Given the description of an element on the screen output the (x, y) to click on. 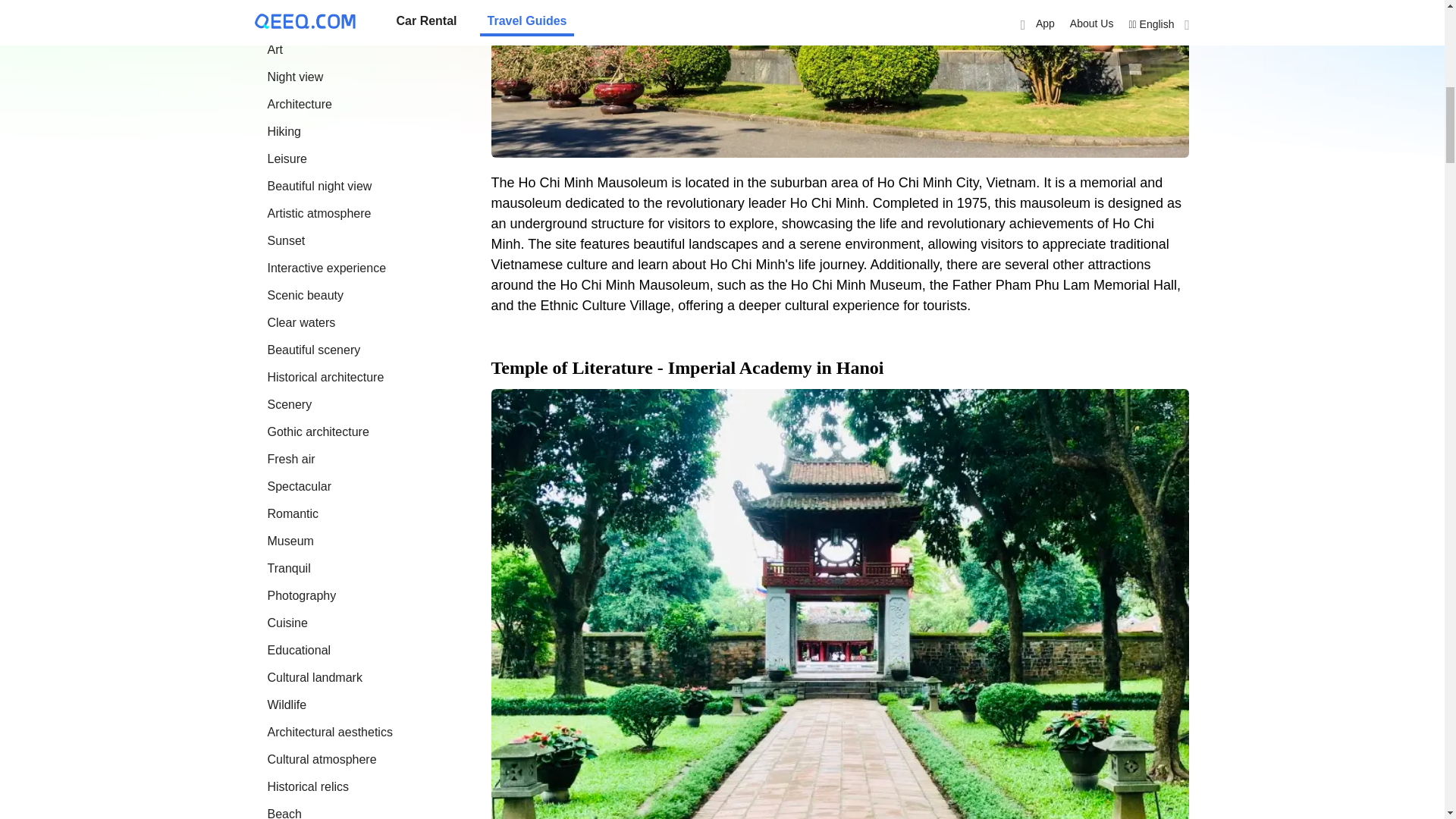
Art travel guides (274, 49)
Beautiful night view (318, 185)
Scenery (288, 404)
Historical architecture (325, 377)
Tourist attraction (310, 21)
Hiking (282, 131)
Sunset (285, 240)
Architecture (298, 103)
Art (274, 49)
Leisure (285, 158)
Gothic architecture (317, 431)
Spectacular (298, 486)
Majestic travel guides (288, 0)
Interactive experience (325, 267)
Fresh air (290, 459)
